Given the description of an element on the screen output the (x, y) to click on. 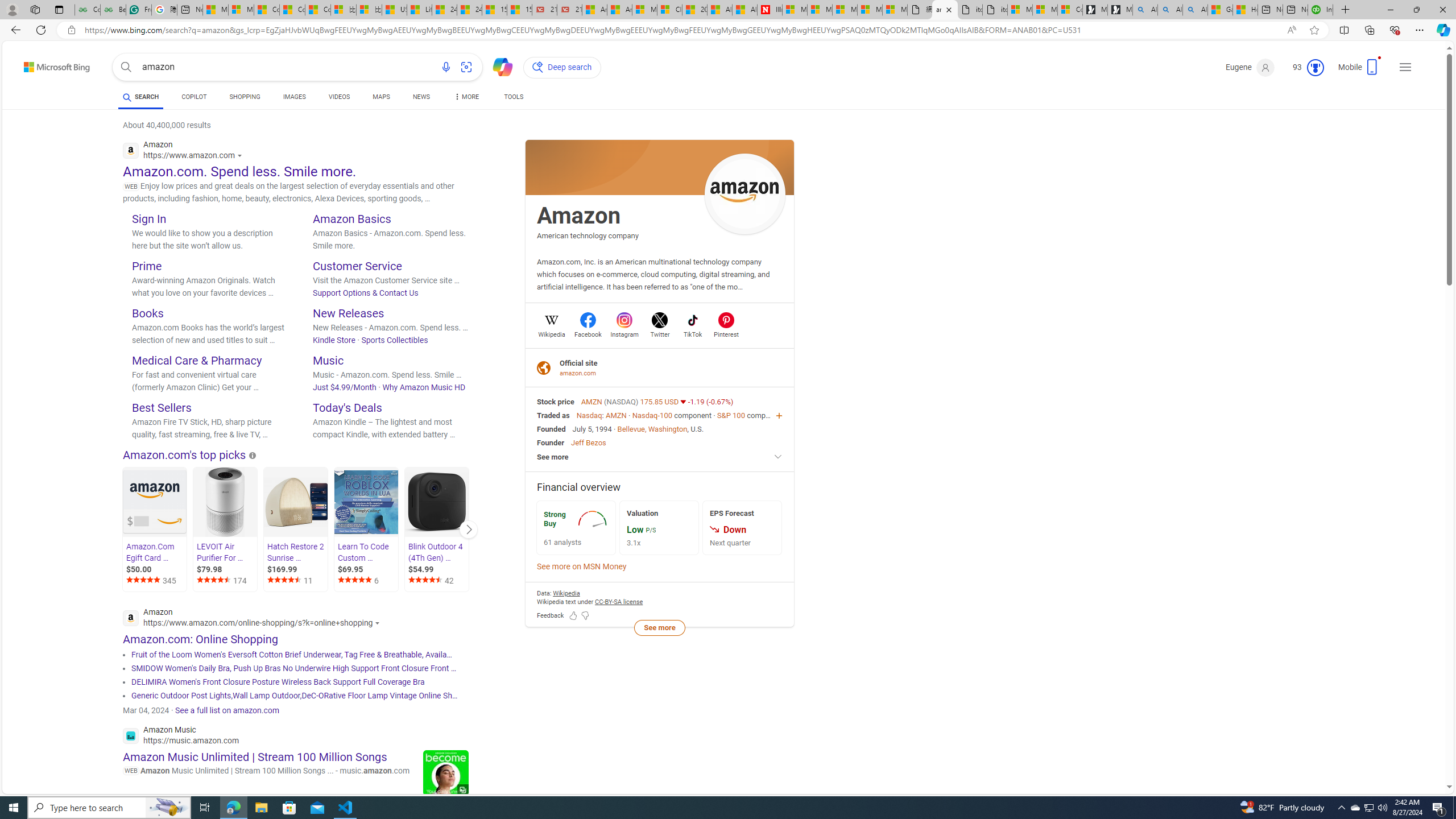
SHOPPING (244, 98)
MAPS (381, 98)
Instagram (624, 333)
$50.00 (155, 569)
Twitter (660, 333)
$54.99 (437, 569)
Intuit QuickBooks Online - Quickbooks (1320, 9)
